Given the description of an element on the screen output the (x, y) to click on. 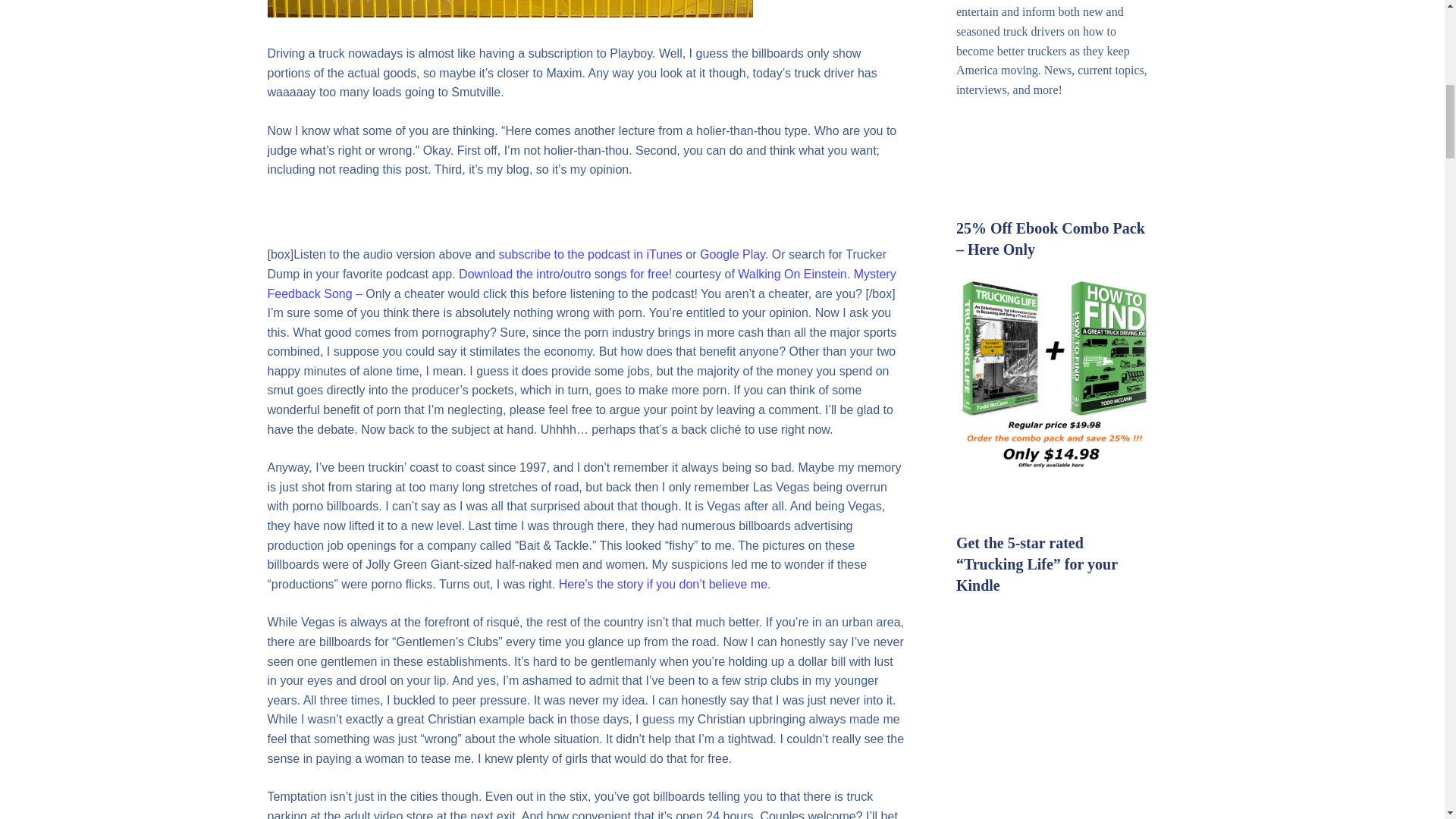
News story on controversial Las Vegas billboards. (665, 584)
subscribe to the podcast in iTunes (590, 254)
Google Play (732, 254)
